Given the description of an element on the screen output the (x, y) to click on. 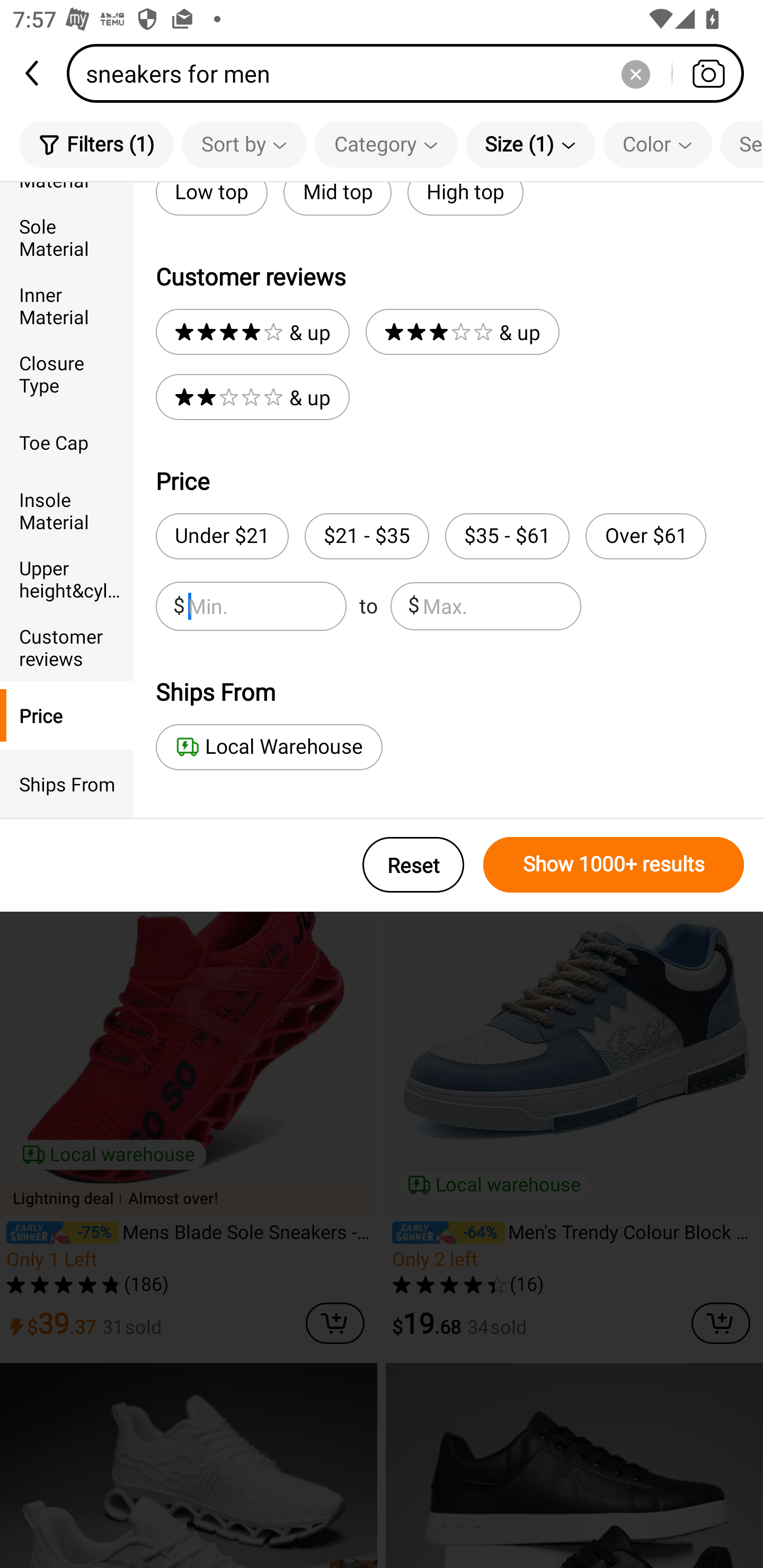
back (33, 72)
sneakers for men (411, 73)
Delete search history (635, 73)
Search by photo (708, 73)
Filters (1) (96, 143)
Sort by (243, 143)
Category (385, 143)
Size (1) (530, 143)
Color (657, 143)
Low top (211, 198)
Mid top (337, 198)
High top (465, 198)
Sole Material (66, 236)
Inner Material (66, 305)
& up (252, 331)
& up (462, 331)
Closure Type (66, 373)
& up (252, 397)
Toe Cap (66, 441)
Insole Material (66, 510)
Under $21 (221, 535)
$21 - $35 (366, 535)
$35 - $61 (506, 535)
Over $61 (645, 535)
Upper height&cylinder height (66, 578)
$ Min. to $ Max. (368, 605)
Customer reviews (66, 646)
Price (66, 714)
Local Warehouse (268, 746)
Ships From (66, 783)
Reset (412, 864)
Show 1000+ results (612, 864)
